Given the description of an element on the screen output the (x, y) to click on. 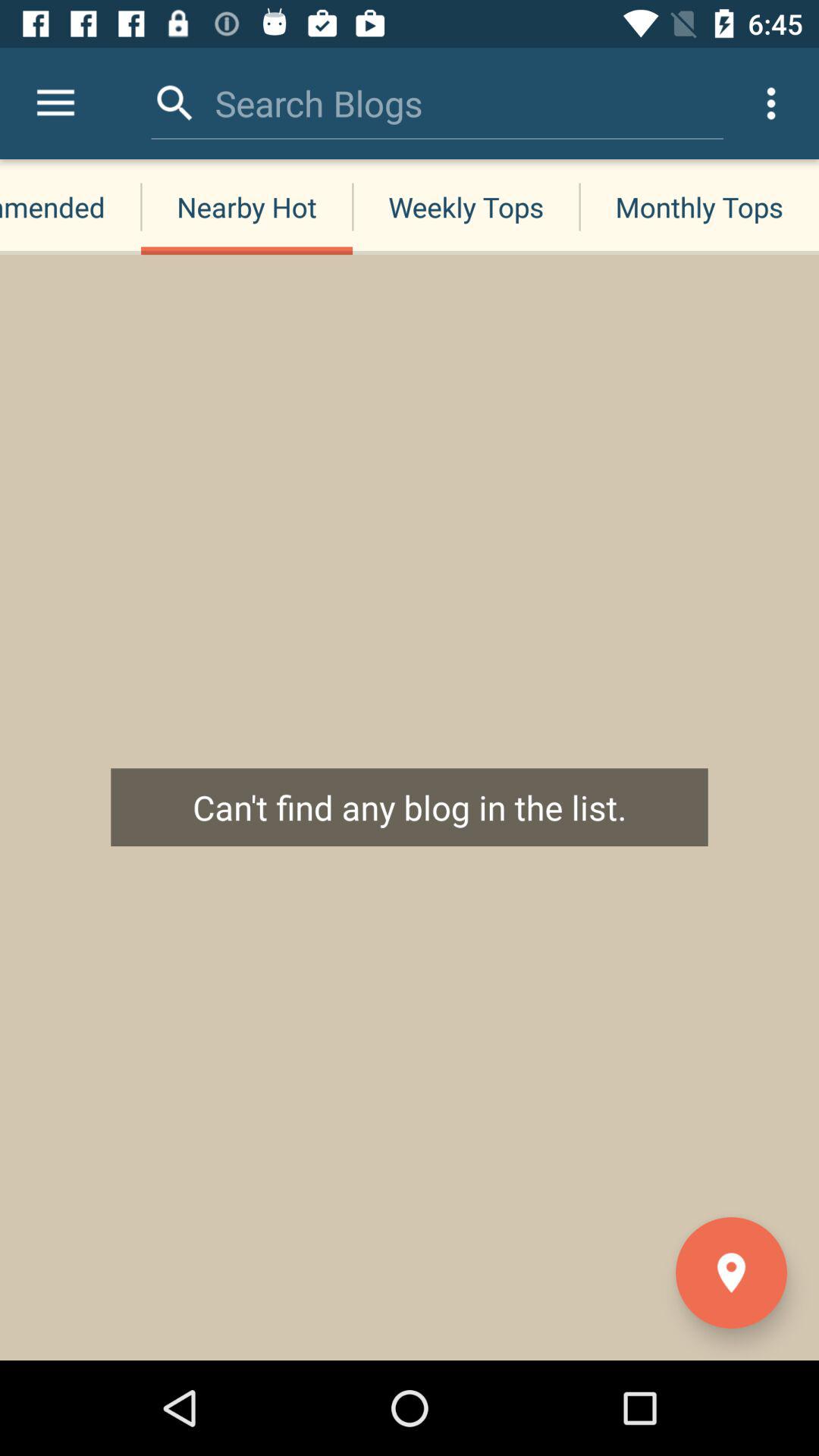
click item next to monthly tops (465, 206)
